Given the description of an element on the screen output the (x, y) to click on. 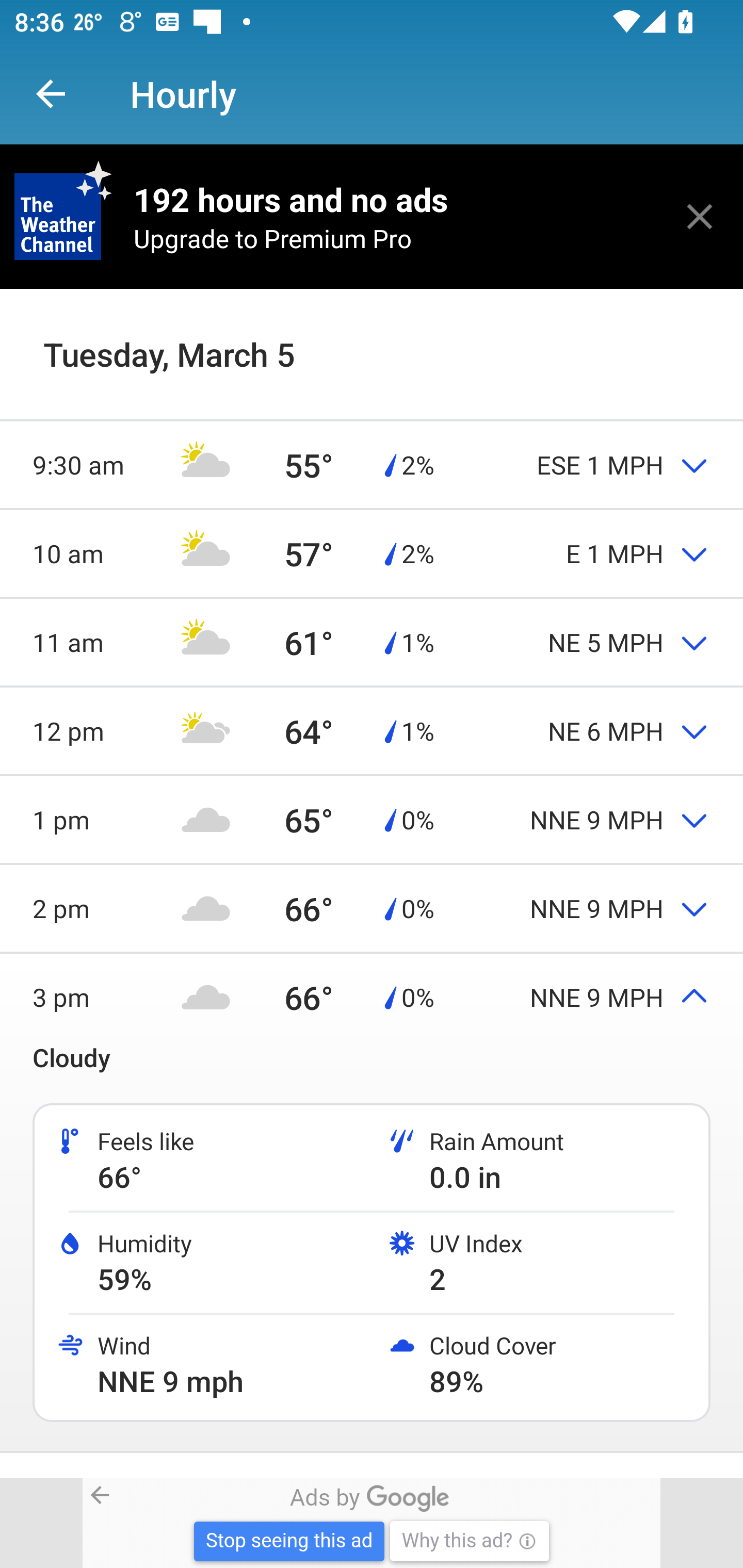
Navigate up (50, 93)
close this (699, 216)
9:30 am 55° 2% ESE 1 MPH (371, 464)
10 am 57° 2% E 1 MPH (371, 553)
11 am 61° 1% NE 5 MPH (371, 641)
12 pm 64° 1% NE 6 MPH (371, 730)
1 pm 65° 0% NNE 9 MPH (371, 819)
2 pm 66° 0% NNE 9 MPH (371, 908)
3 pm 66° 0% NNE 9 MPH (371, 996)
